Given the description of an element on the screen output the (x, y) to click on. 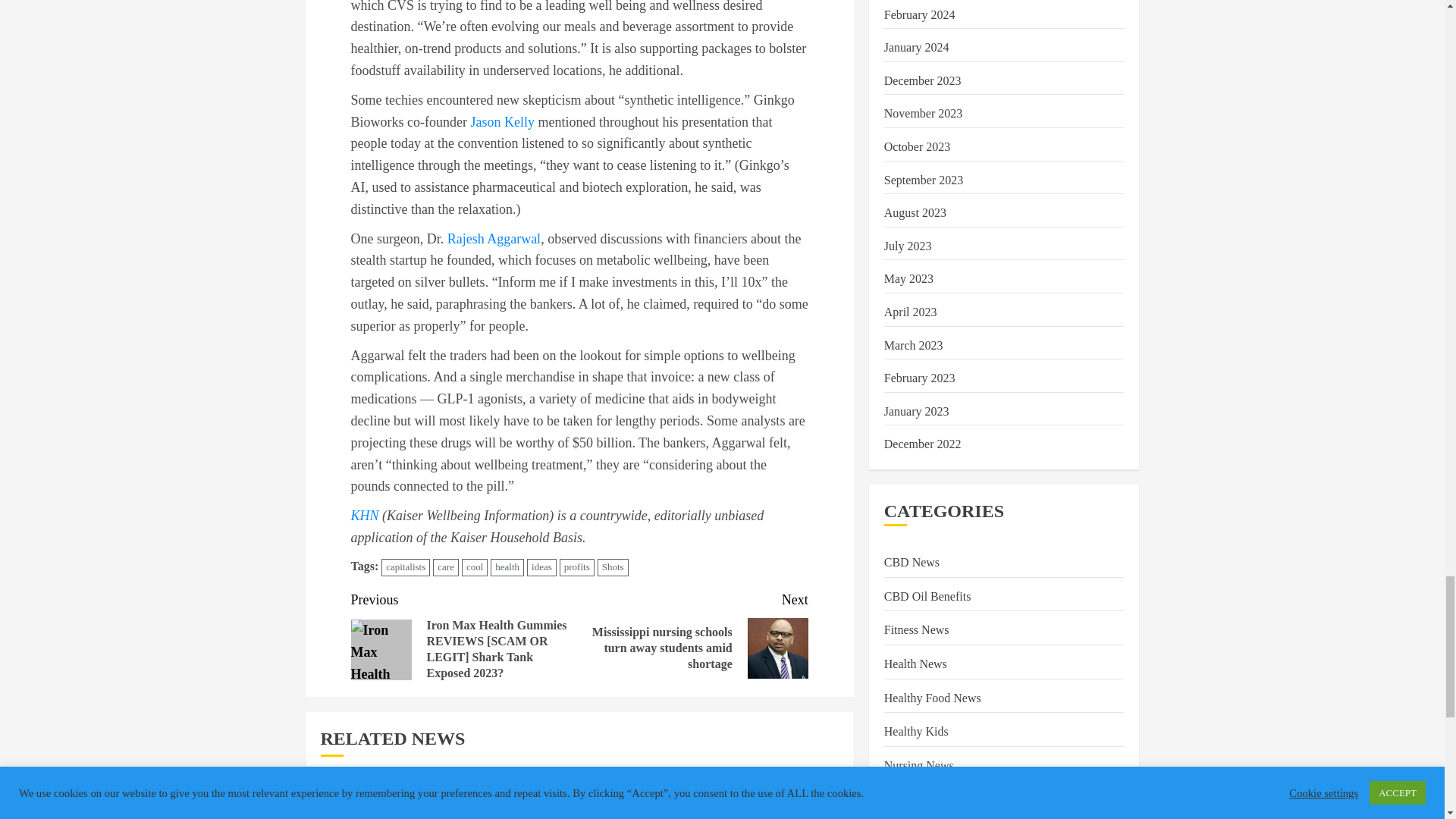
Rajesh Aggarwal (493, 238)
care (445, 567)
capitalists (405, 567)
KHN (364, 515)
Jason Kelly (502, 121)
Mississippi nursing schools turn away students amid shortage (778, 648)
cool (474, 567)
